Given the description of an element on the screen output the (x, y) to click on. 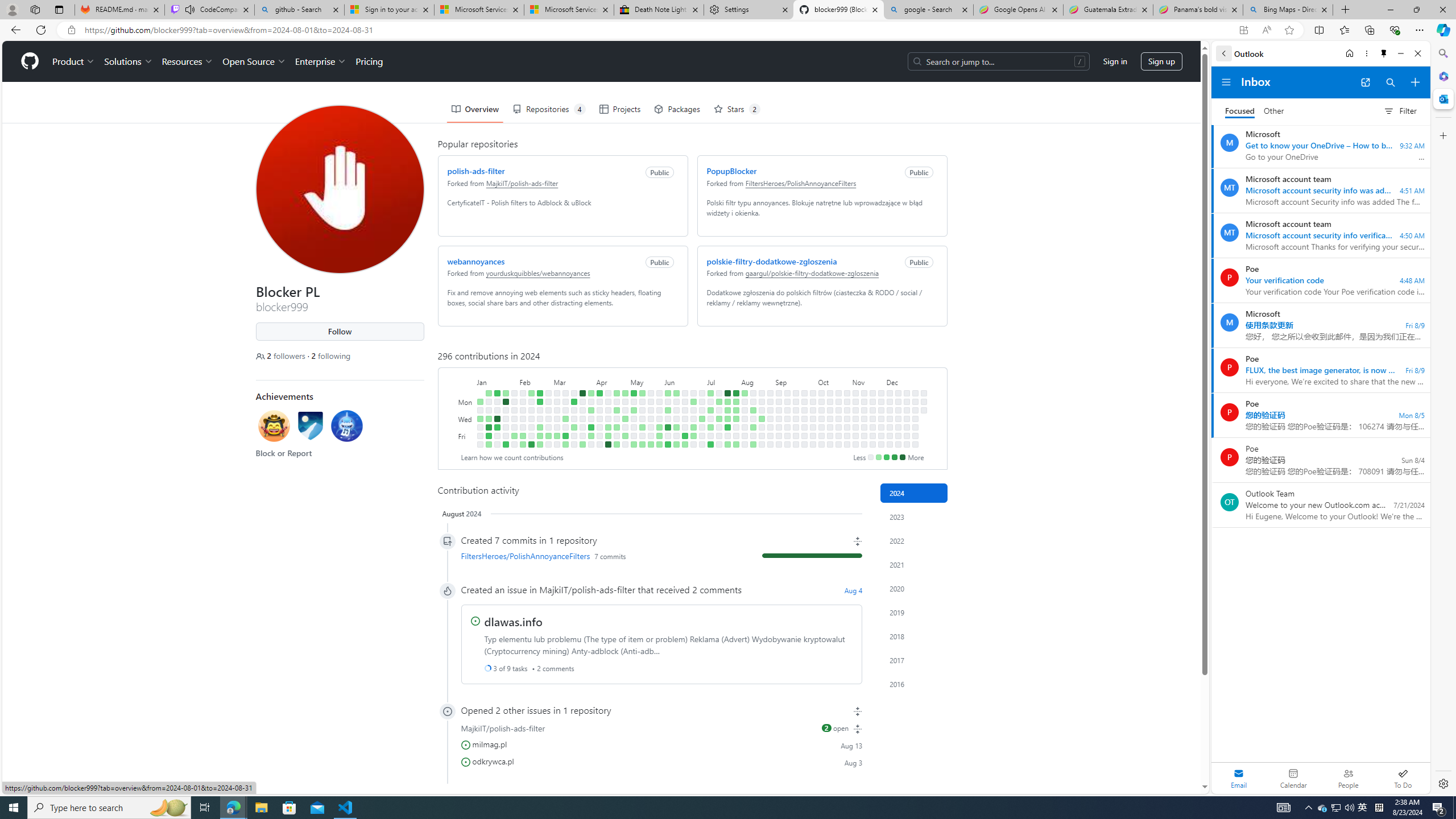
No contributions on December 26th. (914, 427)
No contributions on January 16th. (496, 410)
No contributions on June 19th. (684, 418)
Learn how we count contributions (511, 456)
3 contributions on February 10th. (522, 444)
No contributions on December 30th. (923, 401)
No contributions on August 24th. (761, 444)
No contributions on January 4th. (479, 427)
Sunday (465, 392)
No contributions on May 19th. (650, 392)
No contributions on September 7th. (777, 444)
No contributions on February 25th. (547, 392)
No contributions on January 5th. (479, 435)
No contributions on November 17th. (872, 392)
